Given the description of an element on the screen output the (x, y) to click on. 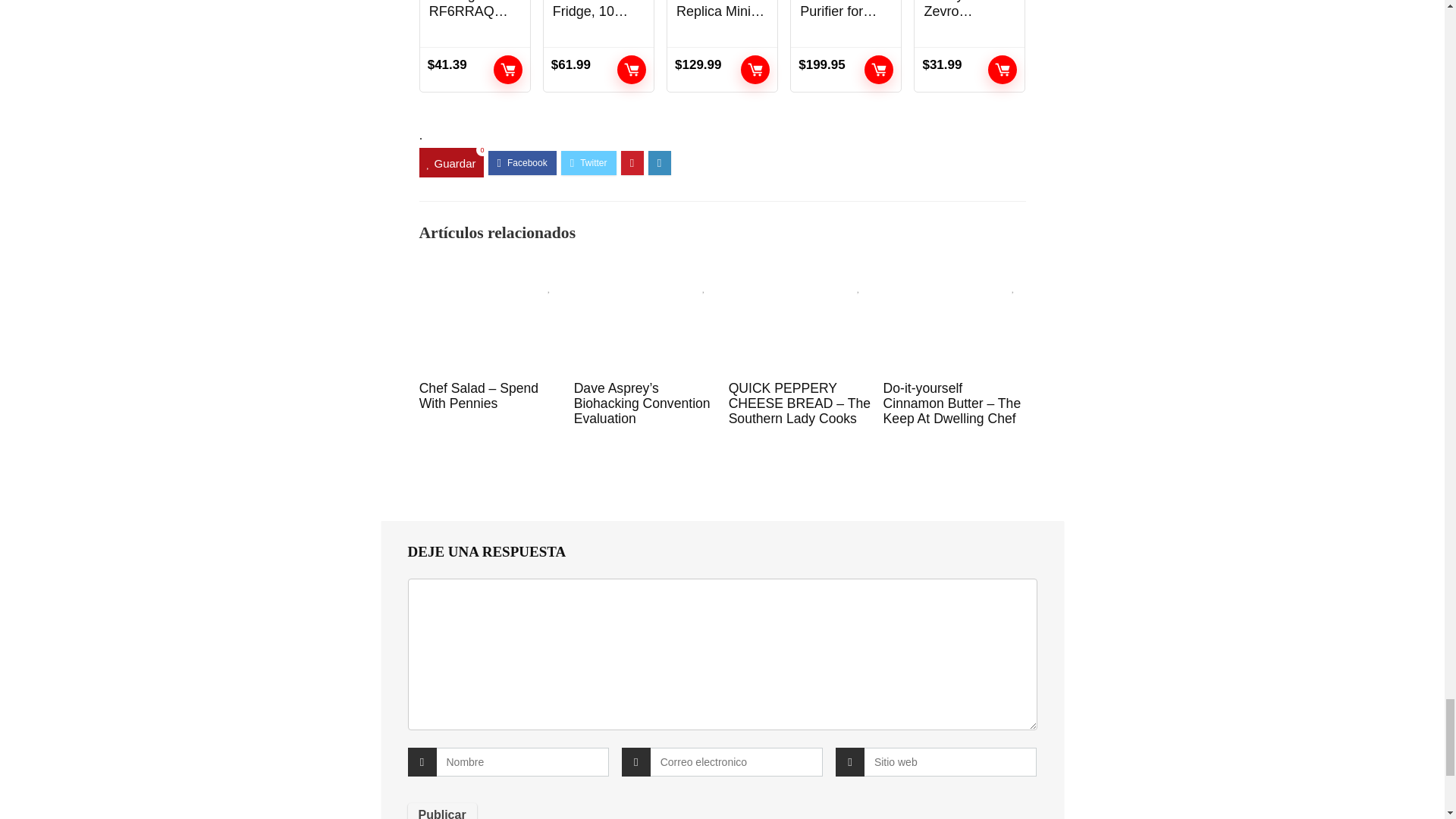
Publicar (442, 811)
